Given the description of an element on the screen output the (x, y) to click on. 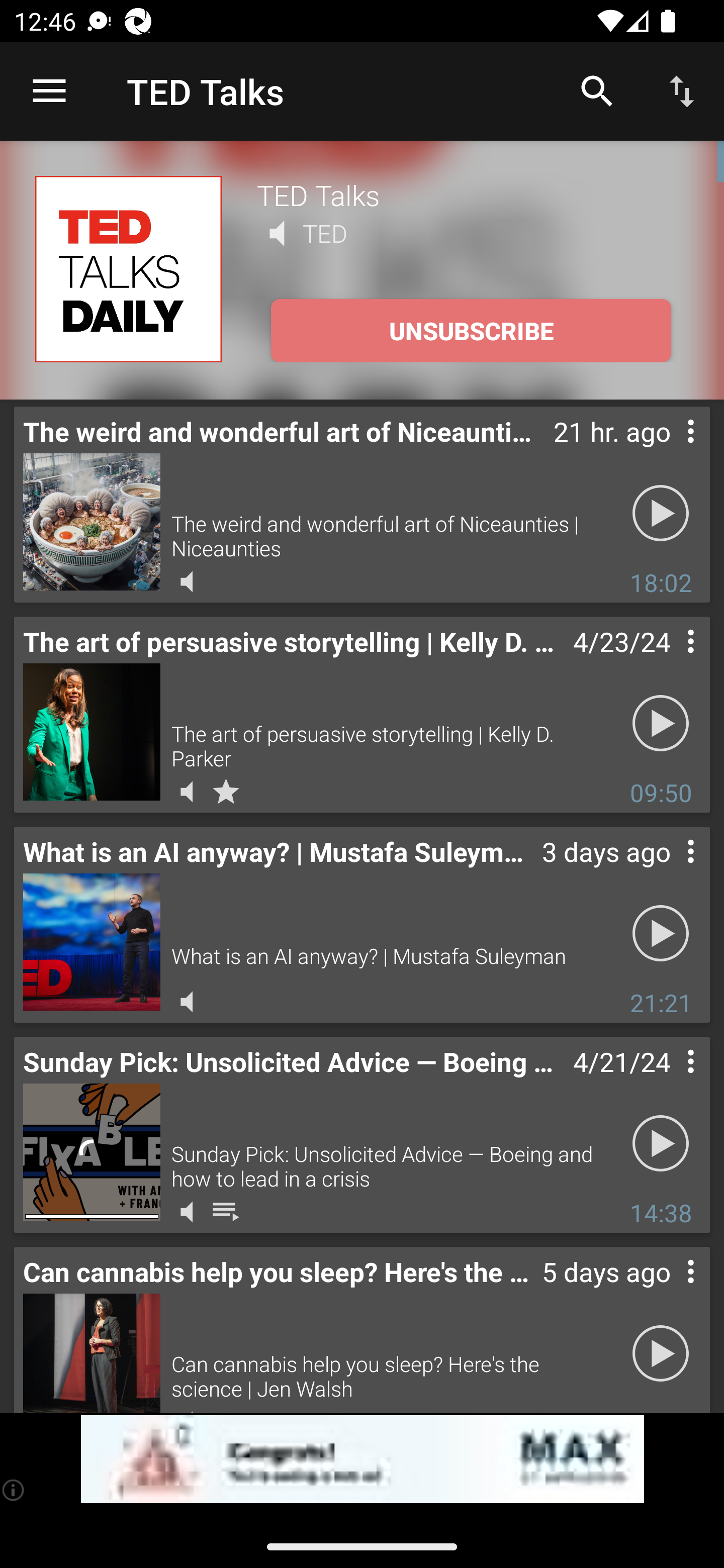
Open navigation sidebar (49, 91)
Search (597, 90)
Sort (681, 90)
UNSUBSCRIBE (470, 330)
Contextual menu (668, 451)
Play (660, 513)
Contextual menu (668, 661)
Play (660, 723)
Contextual menu (668, 870)
Play (660, 933)
Contextual menu (668, 1080)
Play (660, 1143)
Contextual menu (668, 1290)
Play (660, 1353)
app-monetization (362, 1459)
(i) (14, 1489)
